Given the description of an element on the screen output the (x, y) to click on. 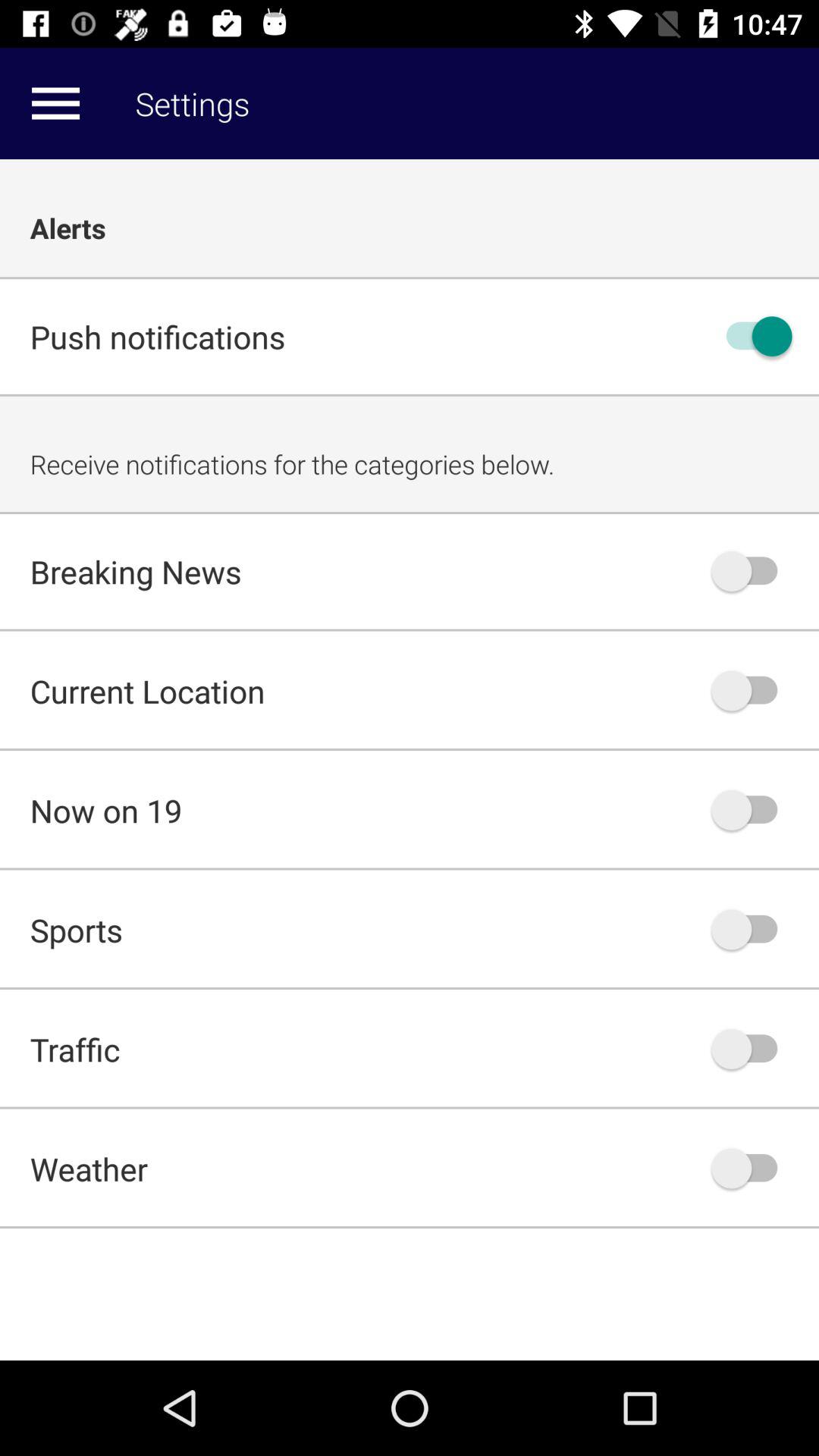
to go menu (55, 103)
